Given the description of an element on the screen output the (x, y) to click on. 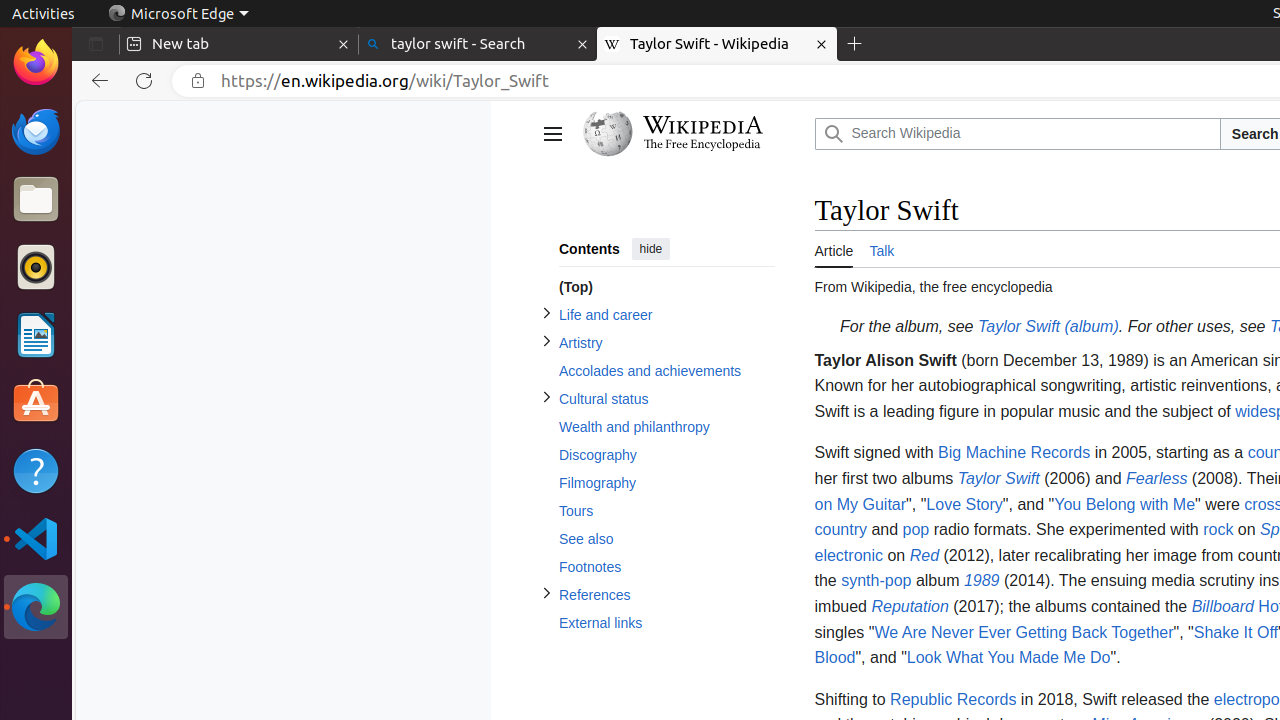
Republic Records Element type: link (953, 699)
Help Element type: push-button (36, 470)
Artistry Element type: link (666, 343)
Microsoft Edge Element type: push-button (36, 607)
Red Element type: link (924, 555)
